Given the description of an element on the screen output the (x, y) to click on. 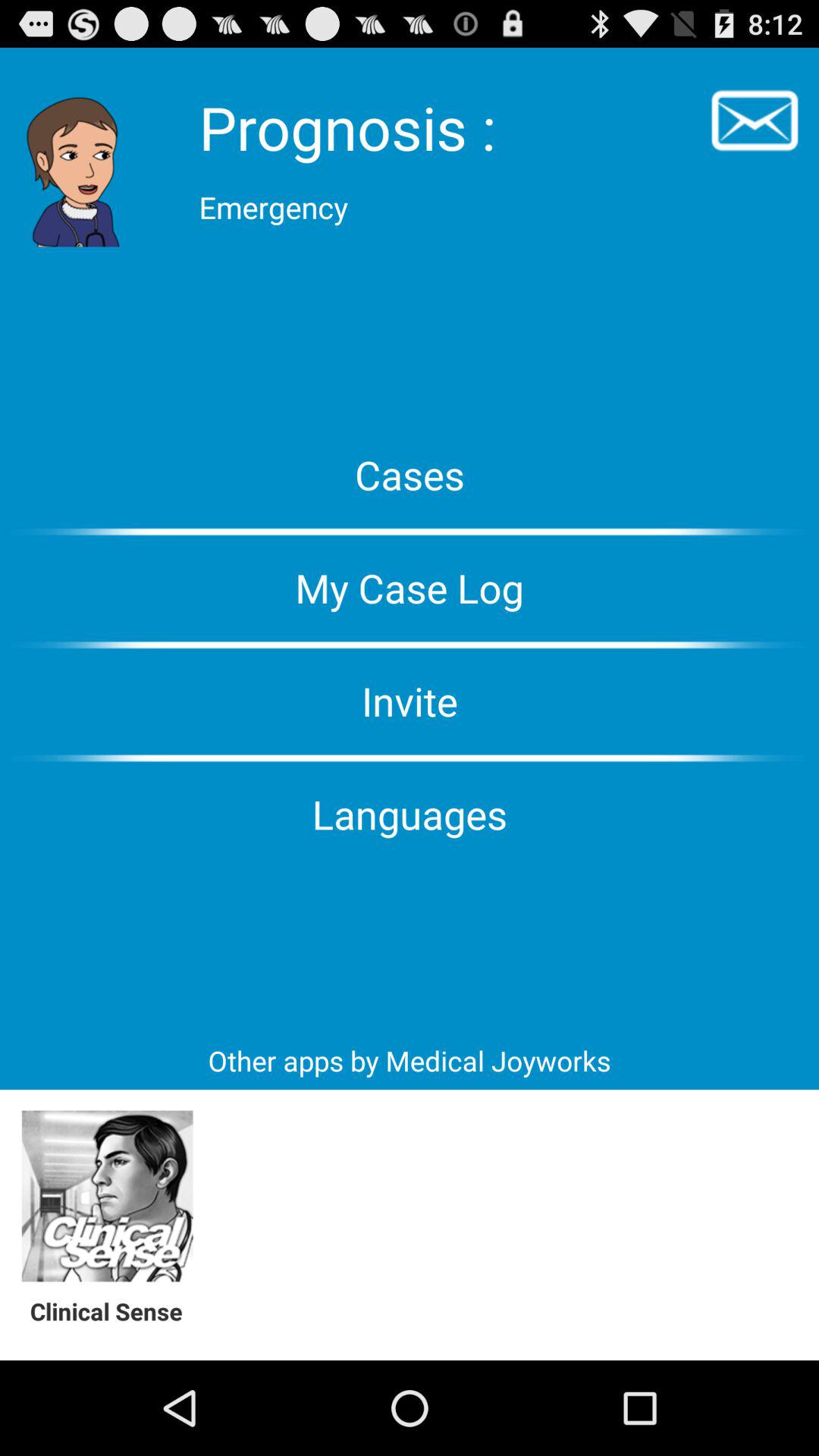
select icon above the clinical sense (107, 1196)
